Given the description of an element on the screen output the (x, y) to click on. 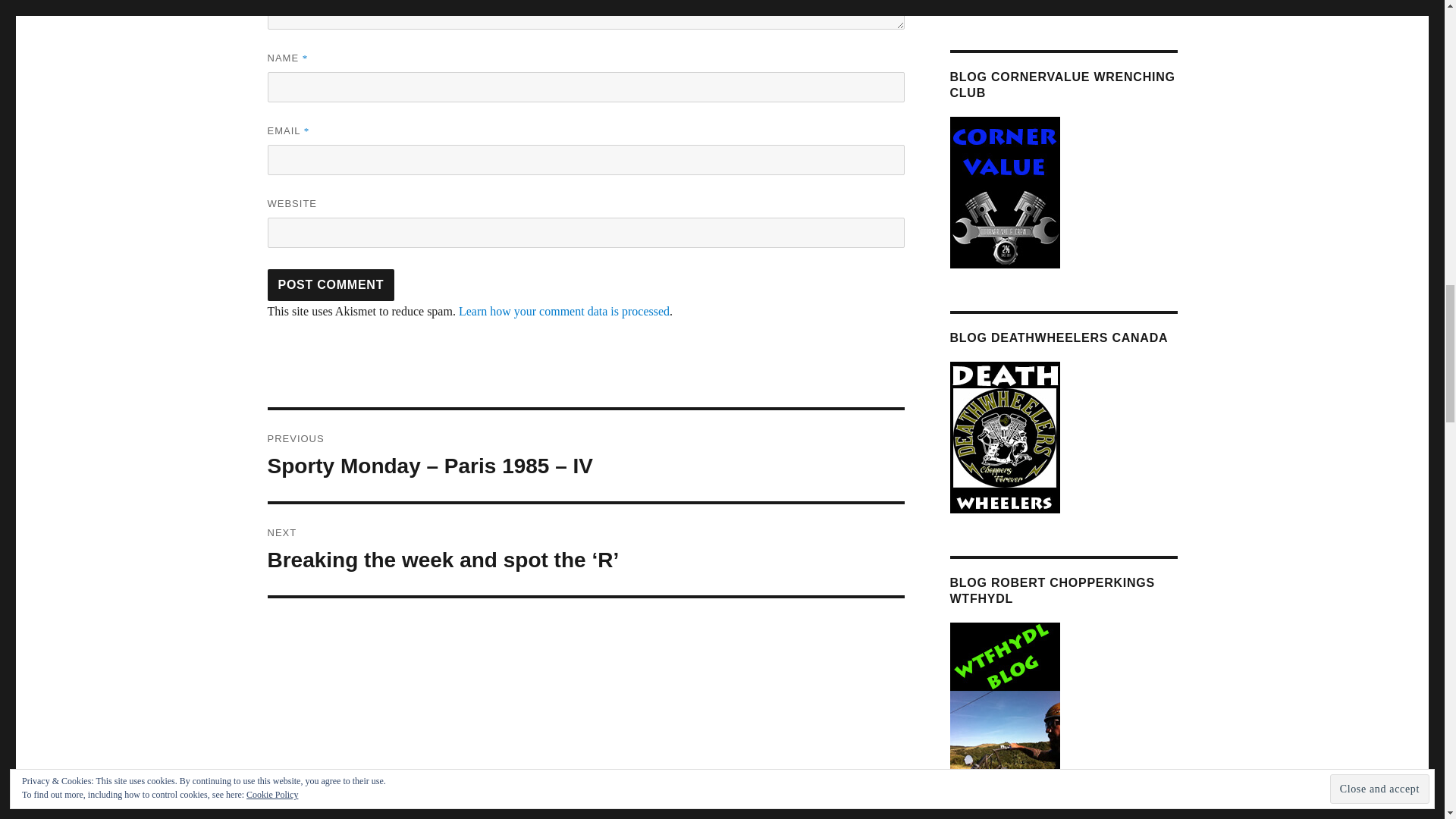
blog robert chopperkings wtfhydl (1004, 696)
Post Comment (330, 285)
Learn how your comment data is processed (563, 310)
blog cornervalue wrenching club (1004, 191)
Post Comment (330, 285)
blog deathwheelers canada (1004, 436)
